Given the description of an element on the screen output the (x, y) to click on. 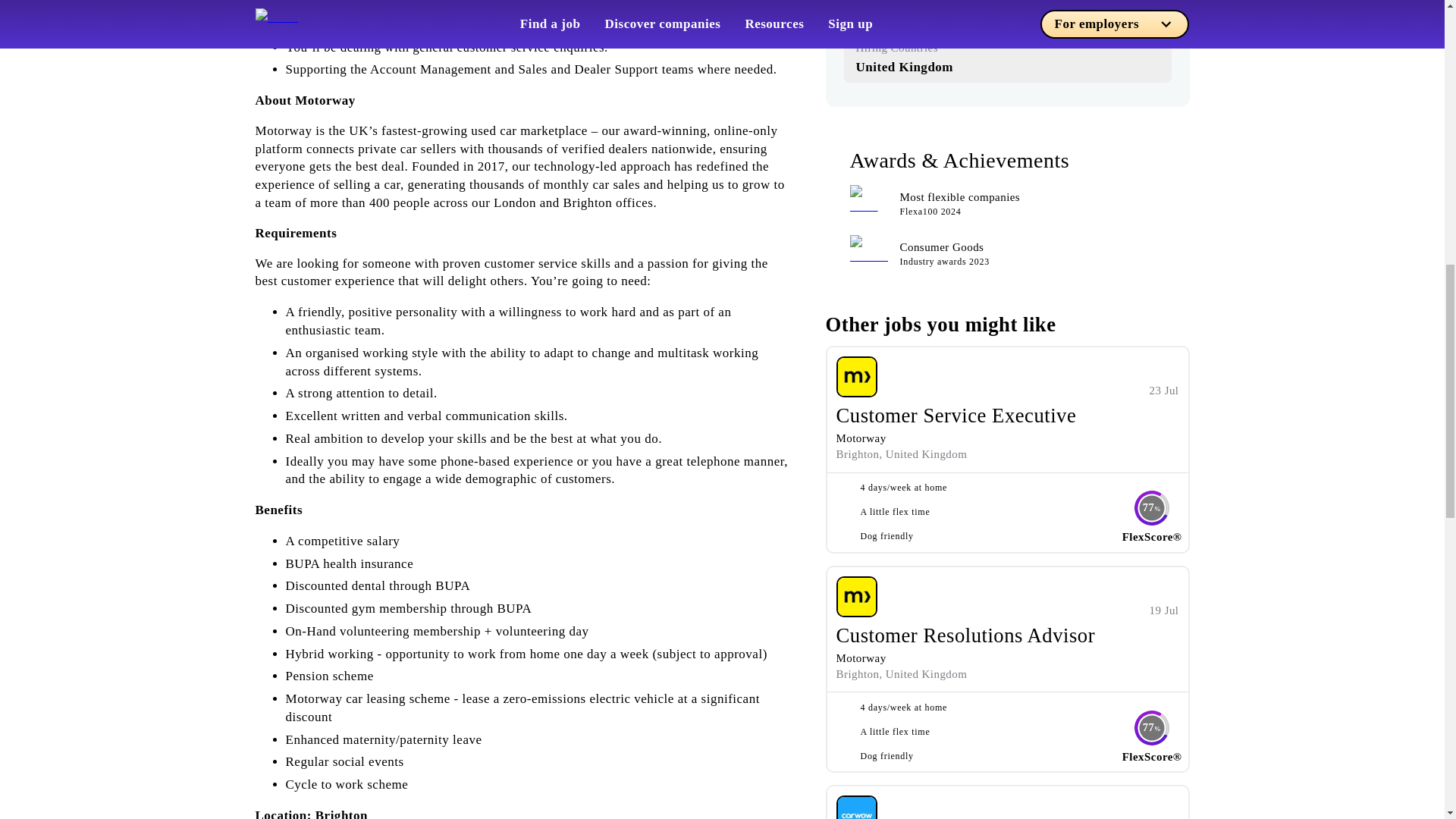
Motorway (860, 657)
Motorway (860, 438)
Customer Resolutions Advisor (964, 635)
Customer Service Executive (955, 415)
